Given the description of an element on the screen output the (x, y) to click on. 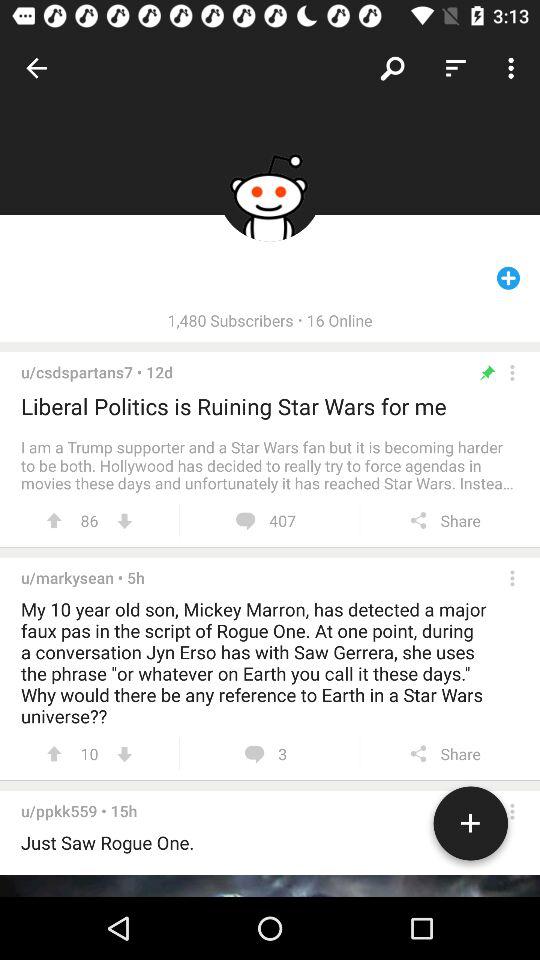
click action dots at top (512, 372)
